Given the description of an element on the screen output the (x, y) to click on. 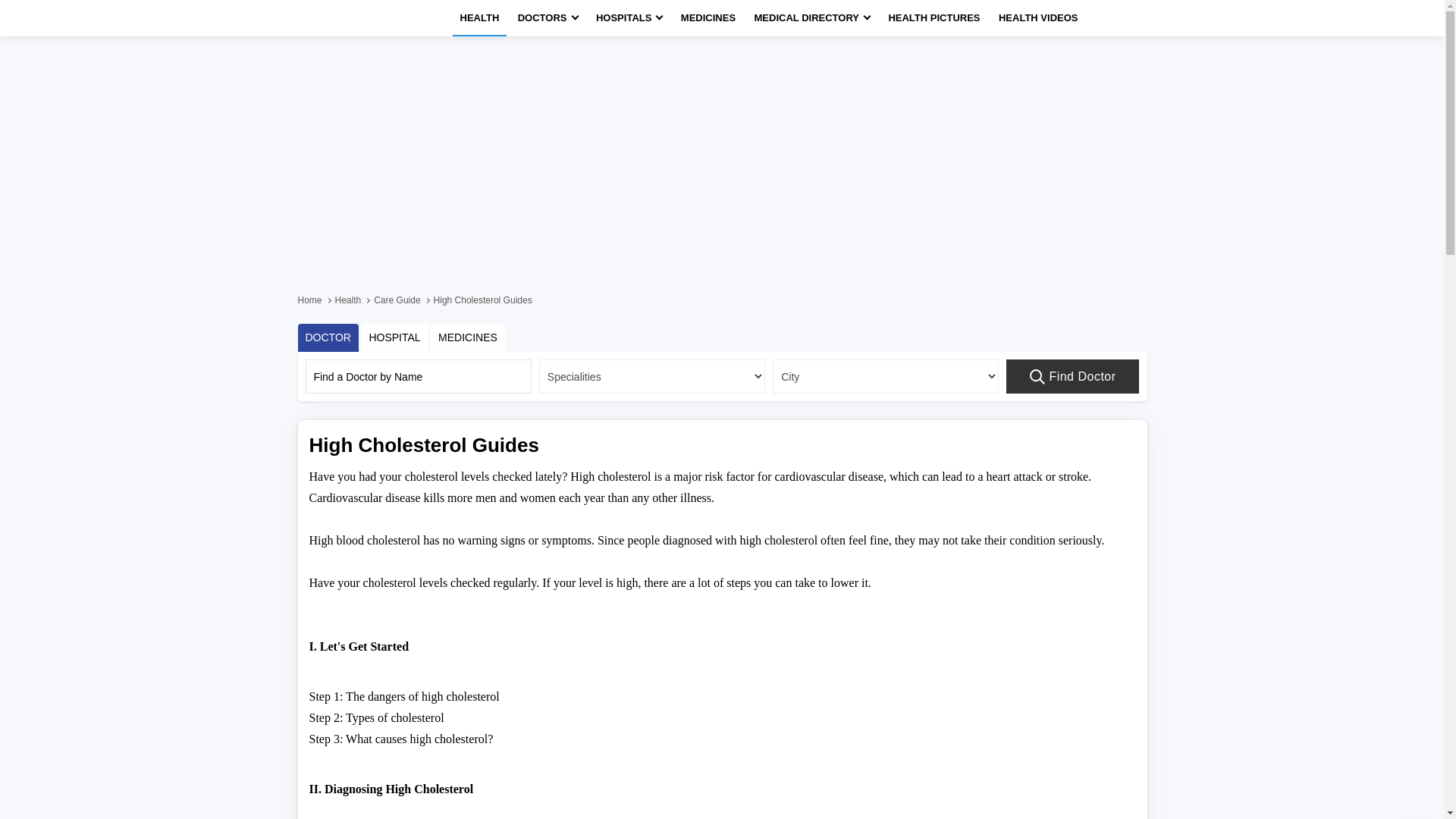
Hamariweb (343, 18)
HEALTH (479, 18)
HOSPITALS (628, 18)
DOCTORS (548, 18)
 Find a Doctor by Name (417, 376)
